Given the description of an element on the screen output the (x, y) to click on. 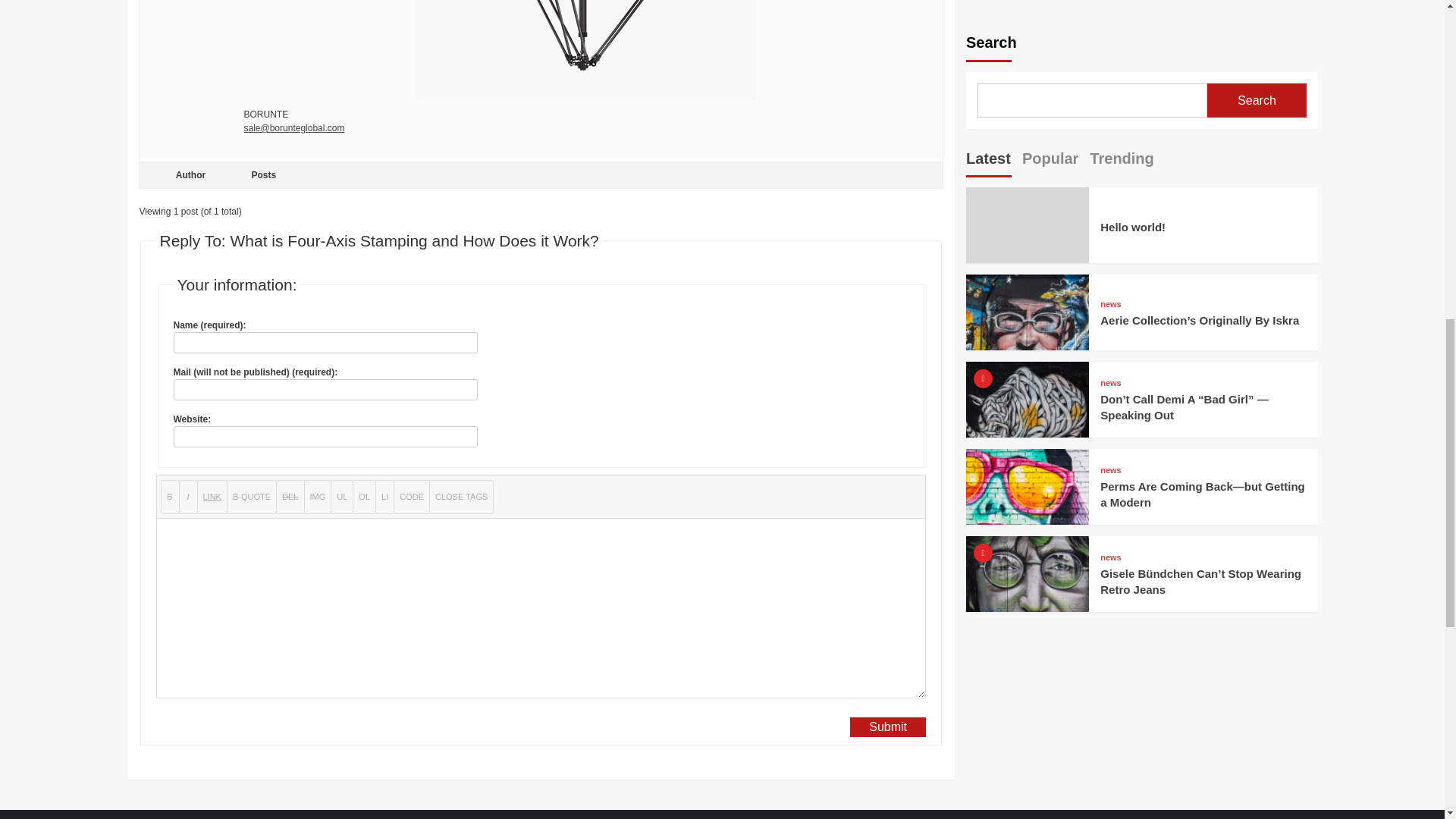
ul (341, 496)
ol (363, 496)
b (169, 496)
del (290, 496)
li (384, 496)
Close all open tags (461, 496)
code (411, 496)
Submit (888, 727)
i (188, 496)
close tags (461, 496)
b-quote (251, 496)
link (211, 496)
img (316, 496)
four-axis stamping robot (584, 49)
